Given the description of an element on the screen output the (x, y) to click on. 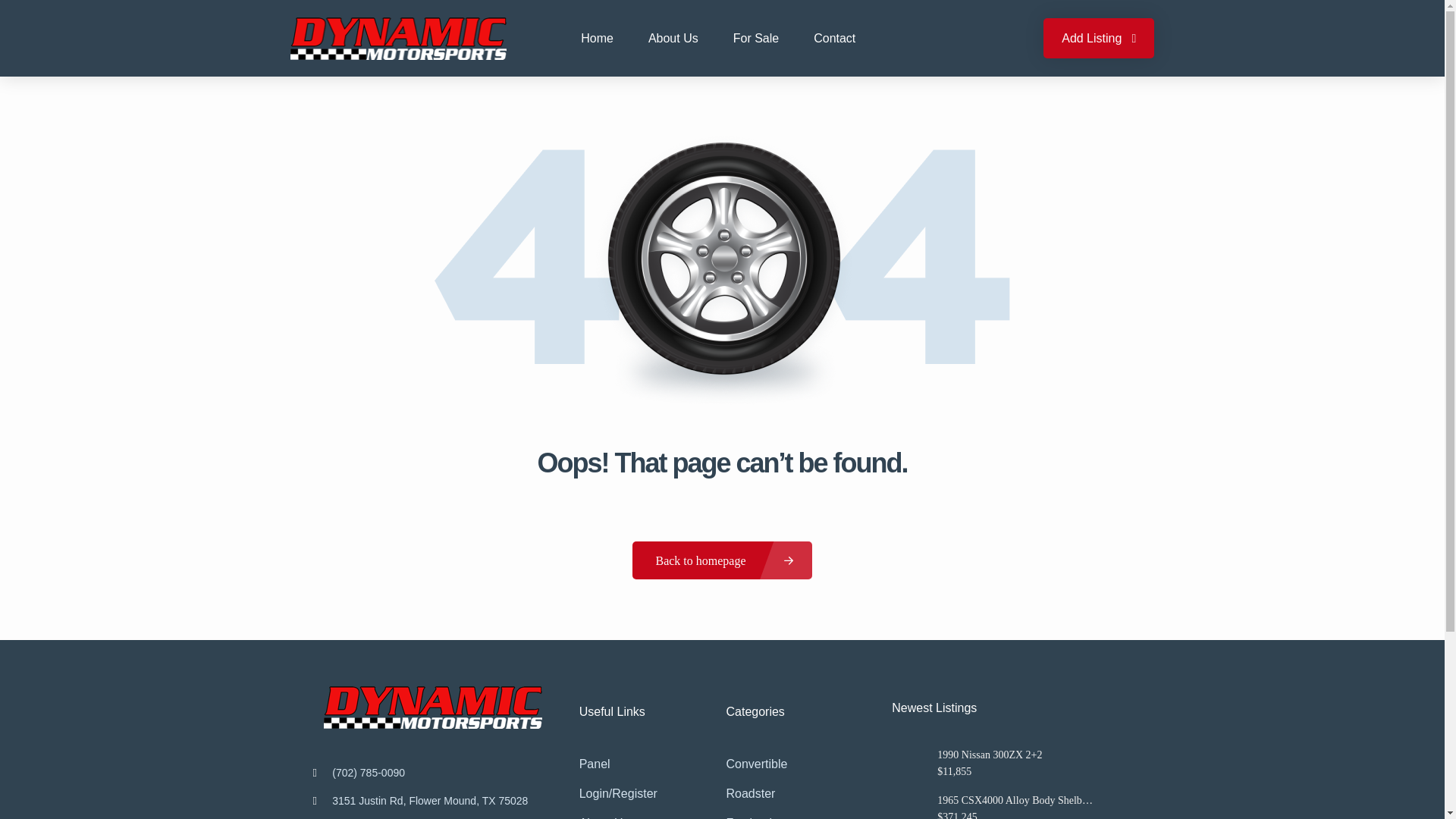
1965 CSX4000 Alloy Body Shelby Cobra (1016, 800)
Back to homepage (720, 560)
About Us (673, 38)
For Sale (755, 38)
Contact (833, 38)
1965 CSX4000 Alloy Body Shelby Cobra (908, 806)
